Given the description of an element on the screen output the (x, y) to click on. 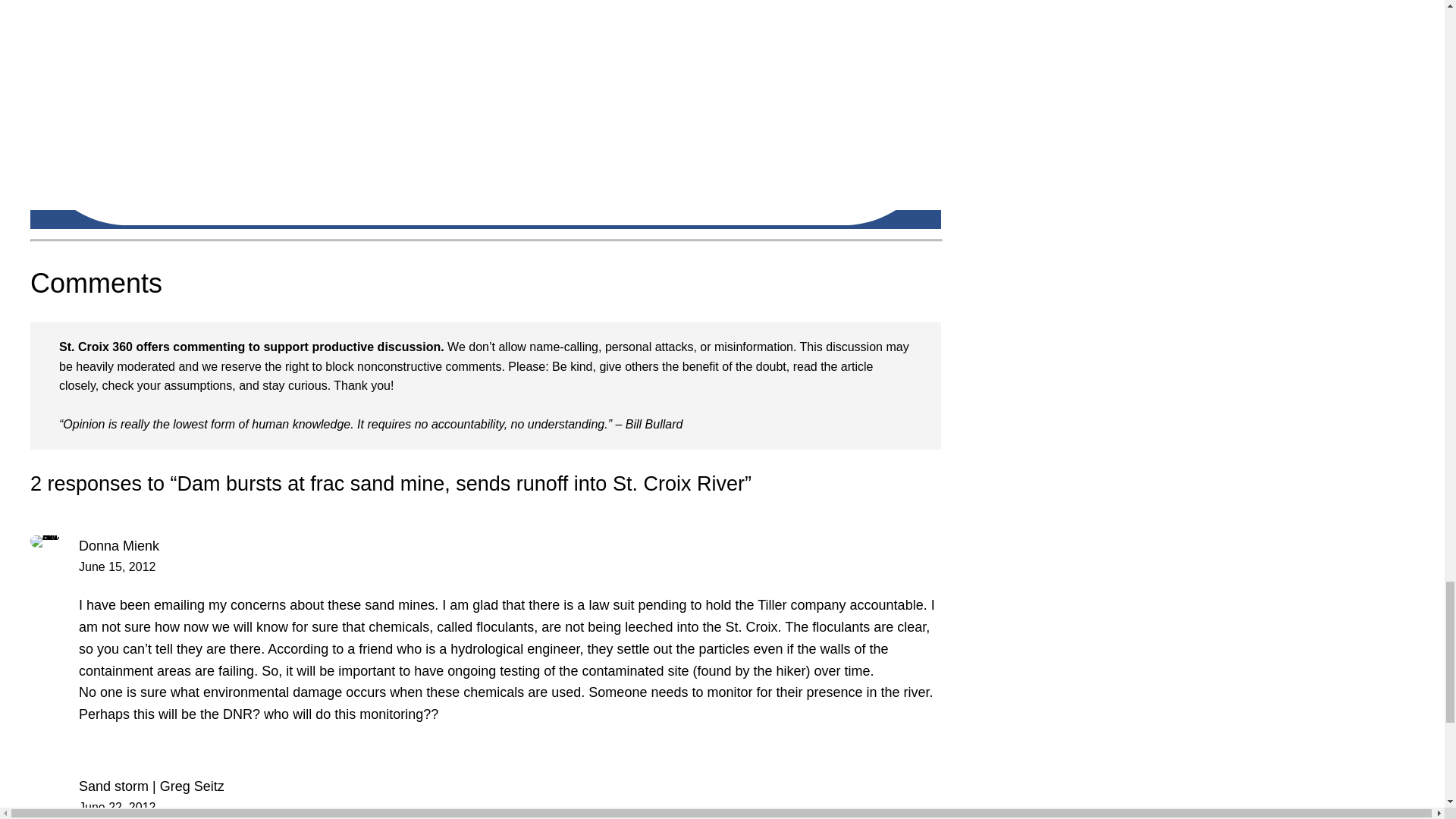
June 22, 2012 (116, 807)
June 15, 2012 (116, 566)
